Given the description of an element on the screen output the (x, y) to click on. 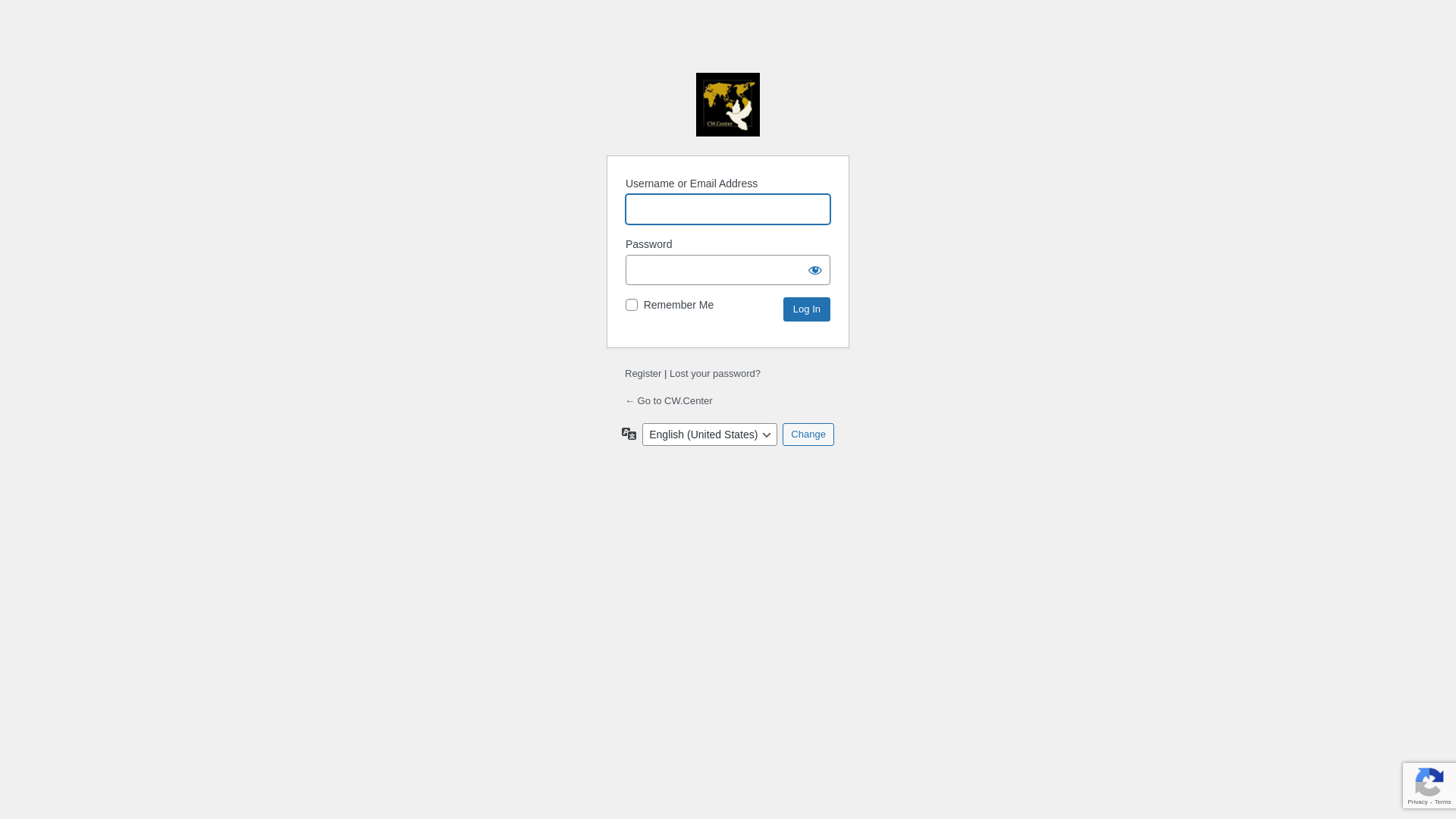
CW.Center Element type: text (727, 104)
Register Element type: text (642, 373)
Change Element type: text (808, 434)
Lost your password? Element type: text (714, 373)
Log In Element type: text (806, 309)
